Given the description of an element on the screen output the (x, y) to click on. 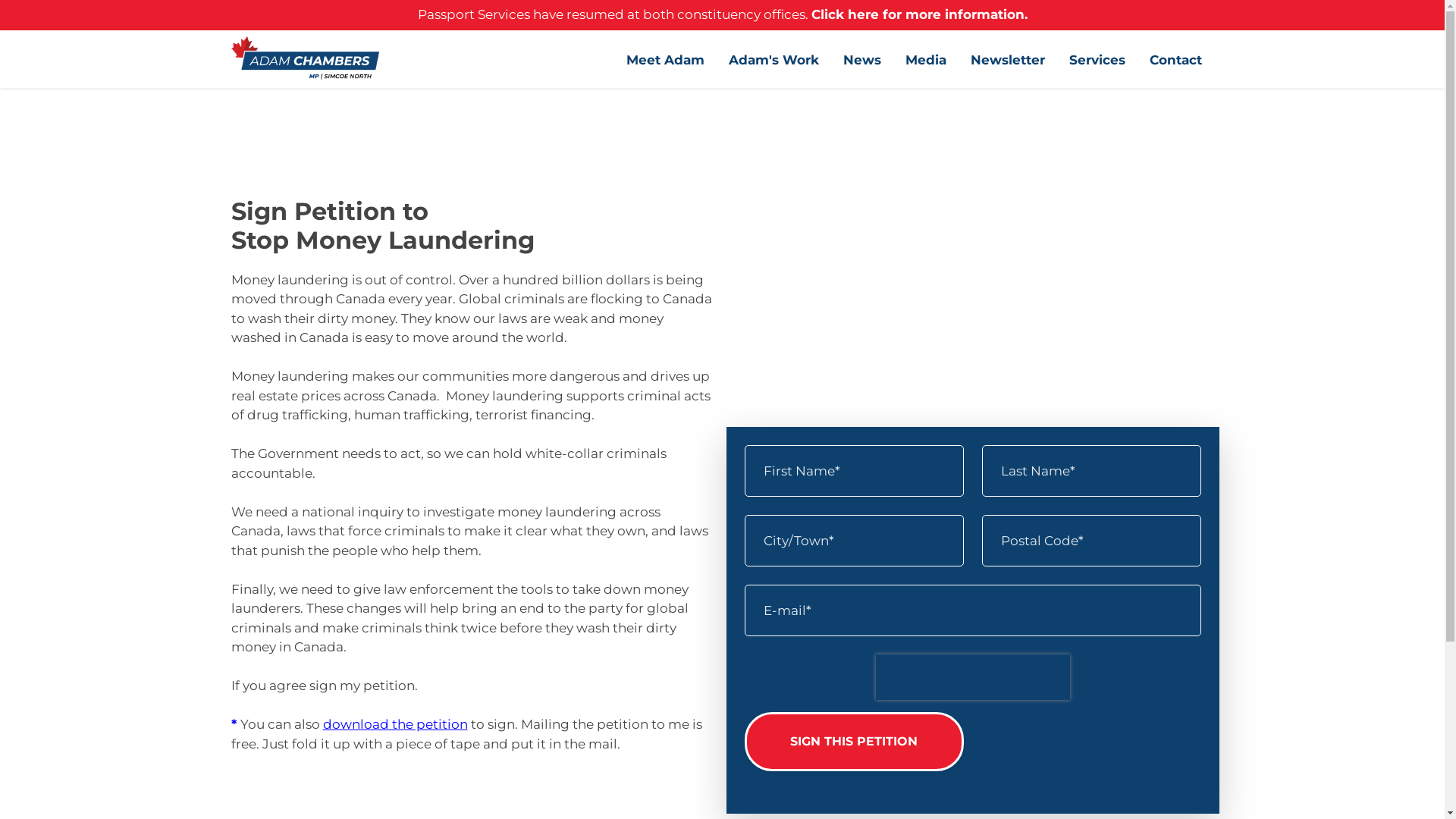
Sign this petition Element type: text (853, 741)
Meet Adam Element type: text (665, 59)
download the petition Element type: text (395, 723)
News Element type: text (862, 59)
Services Element type: text (1097, 59)
Adam Chambers, Member of Parliament Element type: hover (306, 58)
Newsletter Element type: text (1007, 59)
Click here for more information. Element type: text (919, 13)
undefined Element type: hover (972, 273)
Adam's Work Element type: text (772, 59)
Contact Element type: text (1175, 59)
Media Element type: text (925, 59)
reCAPTCHA Element type: hover (972, 676)
